Given the description of an element on the screen output the (x, y) to click on. 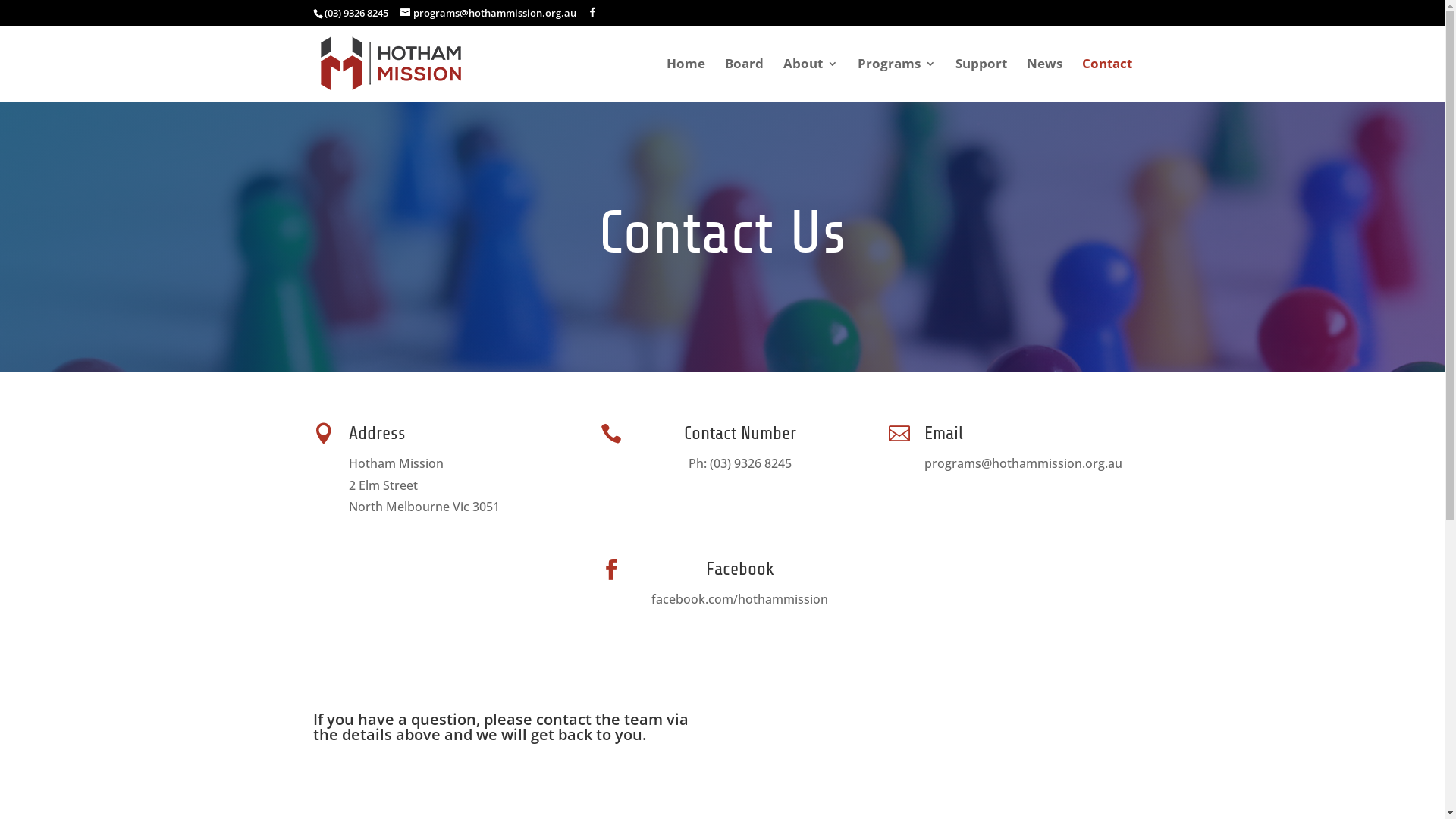
Programs Element type: text (895, 78)
Home Element type: text (684, 78)
About Element type: text (809, 78)
Contact Element type: text (1106, 78)
News Element type: text (1044, 78)
Support Element type: text (981, 78)
Board Element type: text (743, 78)
programs@hothammission.org.au Element type: text (488, 12)
